Given the description of an element on the screen output the (x, y) to click on. 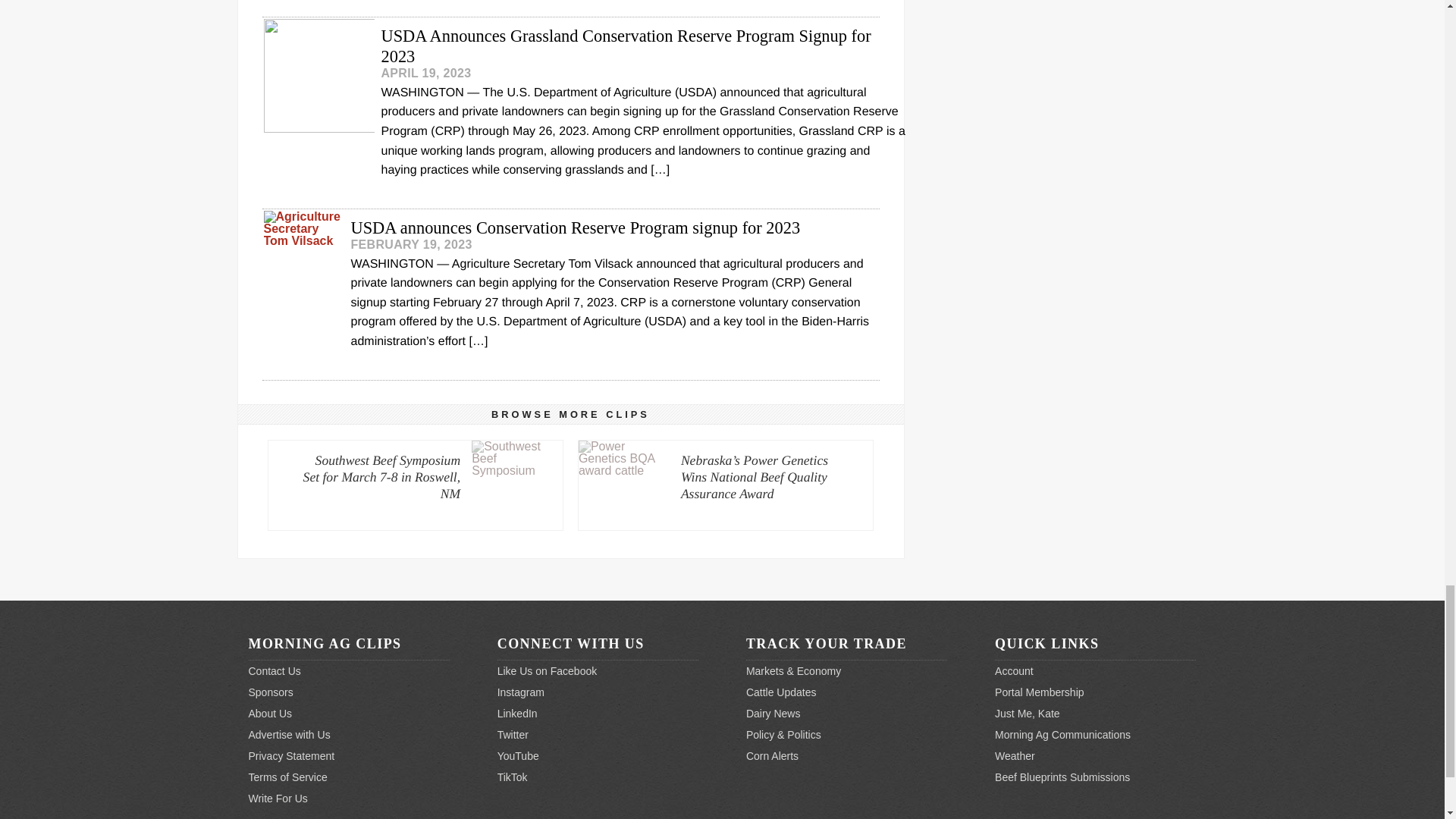
USDA announces Conservation Reserve Program signup for 2023 (570, 240)
